Given the description of an element on the screen output the (x, y) to click on. 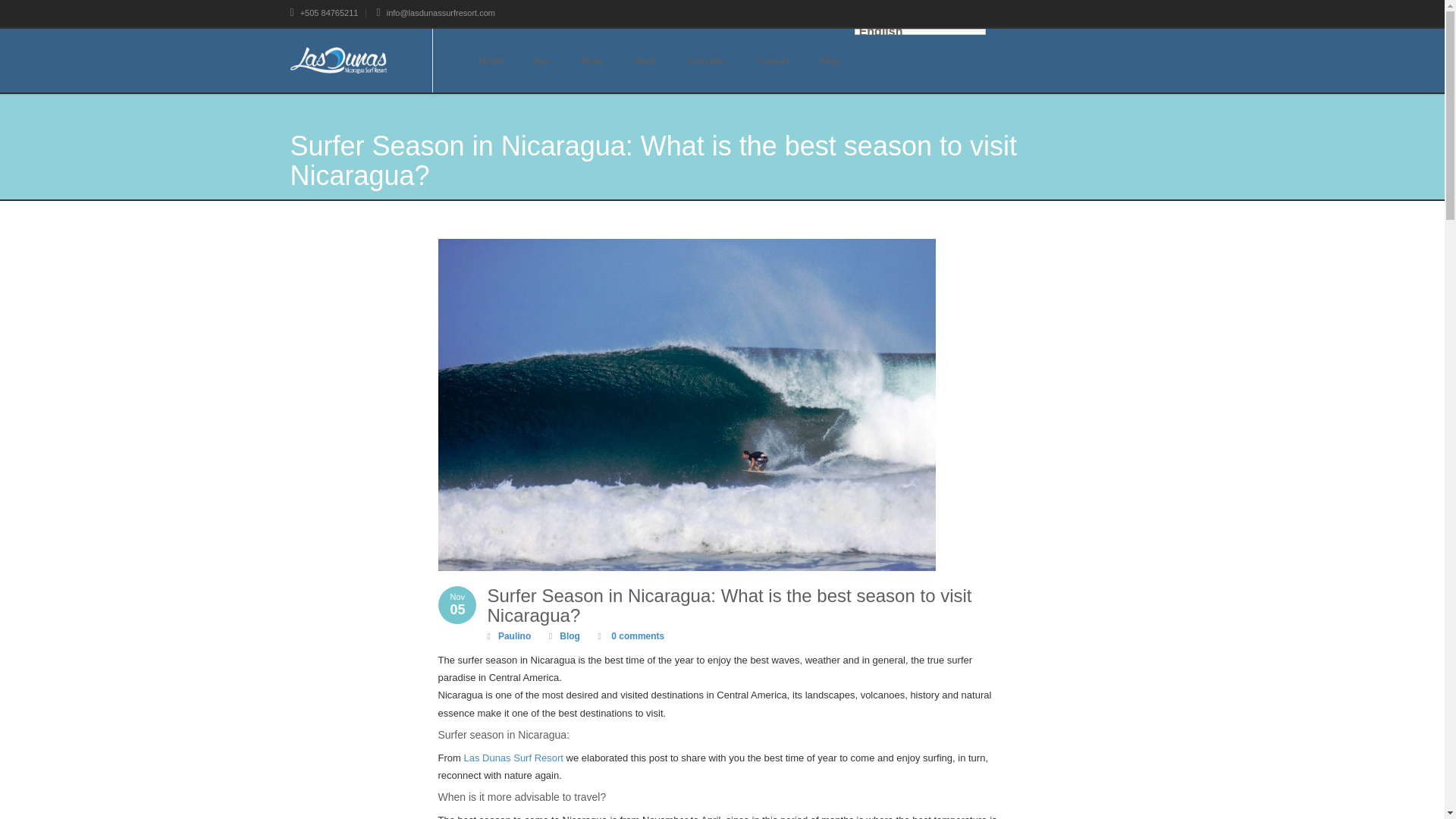
Paulino (514, 635)
Posts by Paulino (514, 635)
English (919, 31)
Activities (706, 60)
0 comments (635, 635)
Las Dunas Surf Resort (513, 757)
Blog (569, 635)
Las Dunas Surf Resort (513, 757)
Contact (773, 60)
